Given the description of an element on the screen output the (x, y) to click on. 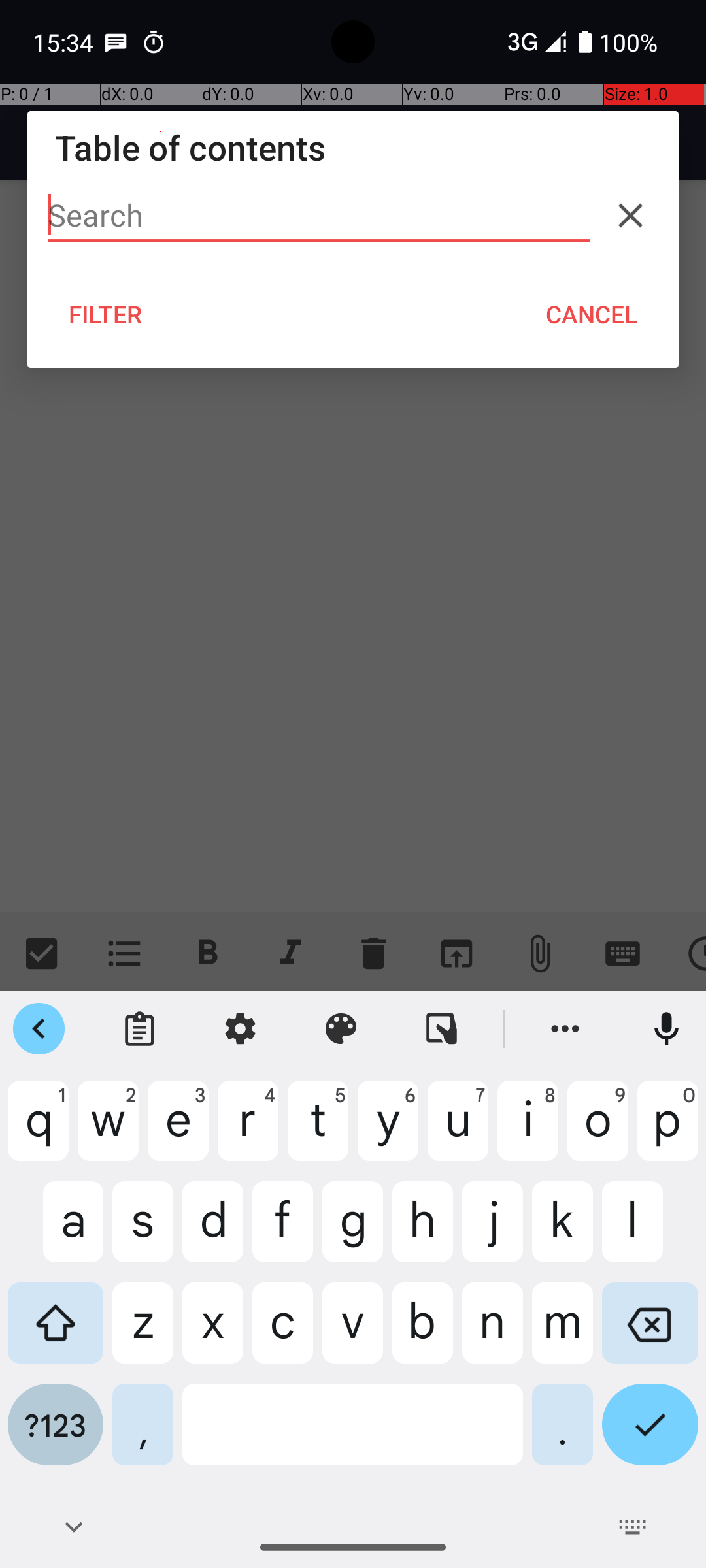
Table of contents Element type: android.widget.TextView (352, 147)
FILTER Element type: android.widget.Button (105, 313)
